Given the description of an element on the screen output the (x, y) to click on. 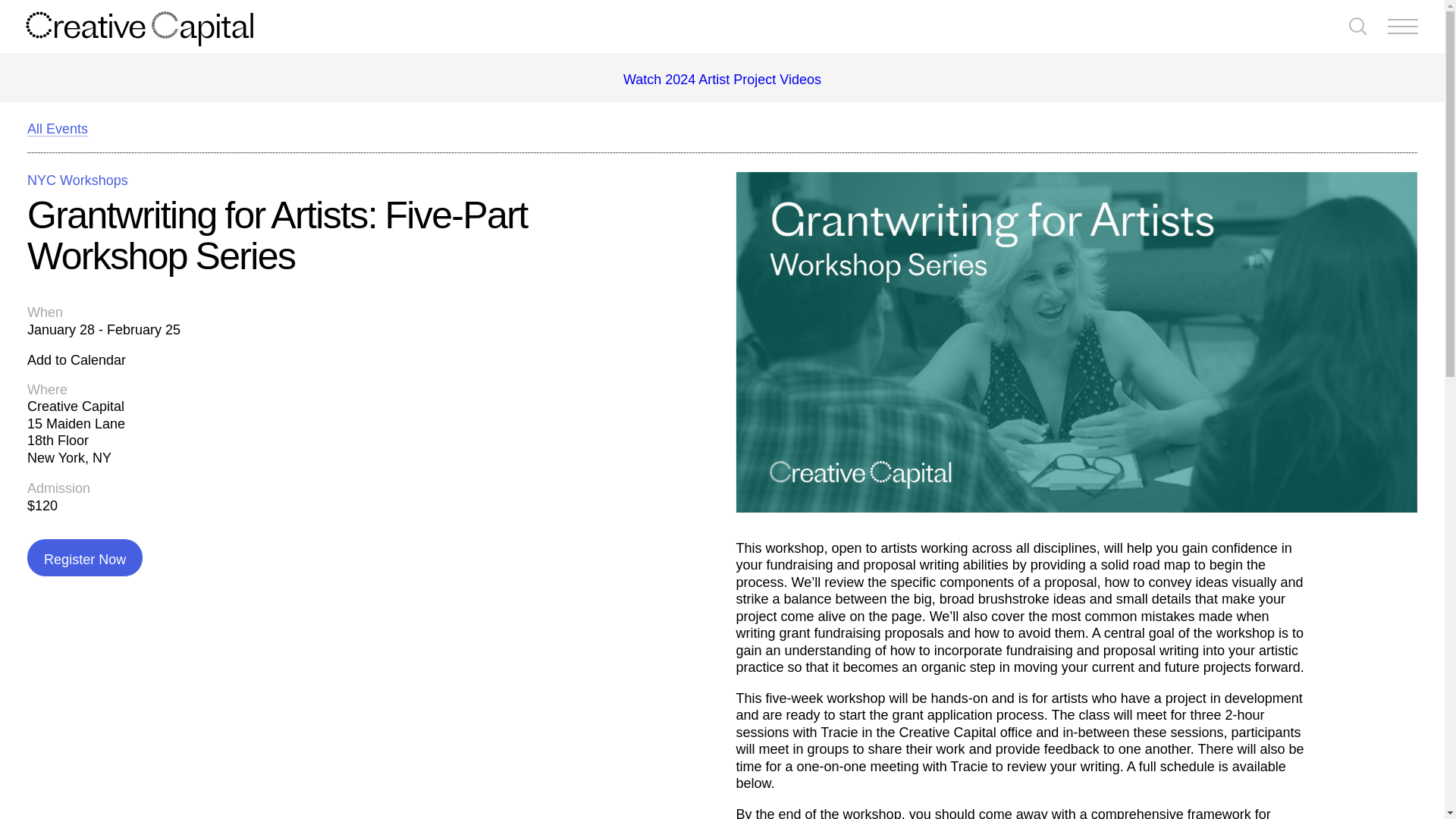
Add to Calendar (76, 360)
Menu (1402, 26)
Watch 2024 Artist Project Videos (722, 79)
Register Now (84, 557)
All Events (57, 128)
NYC Workshops (77, 180)
